Given the description of an element on the screen output the (x, y) to click on. 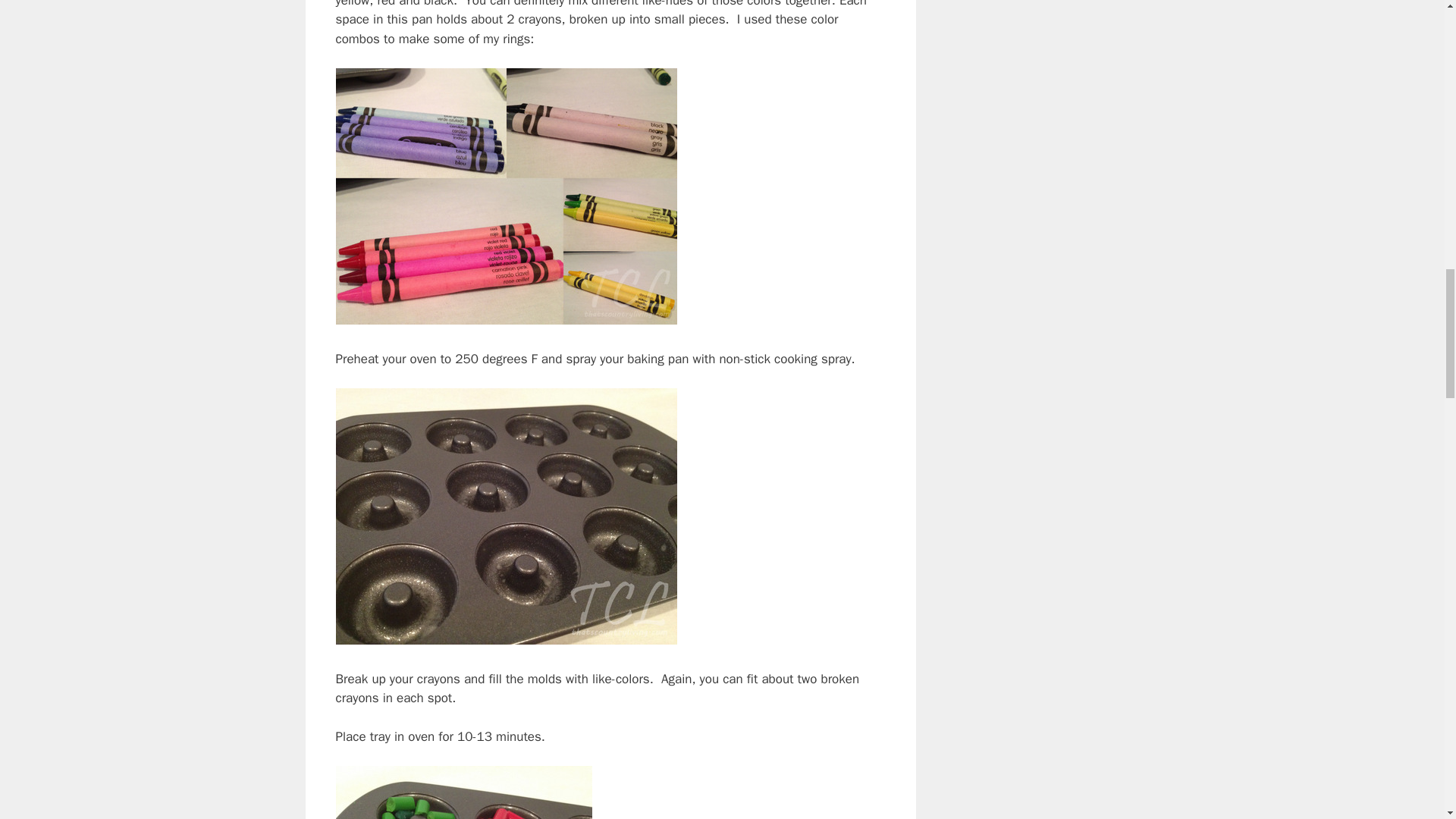
wilton mini doughnut pan b TCL (505, 516)
melting crayons 1 TCL (462, 792)
Crayon-Combos-TCL (505, 195)
